Given the description of an element on the screen output the (x, y) to click on. 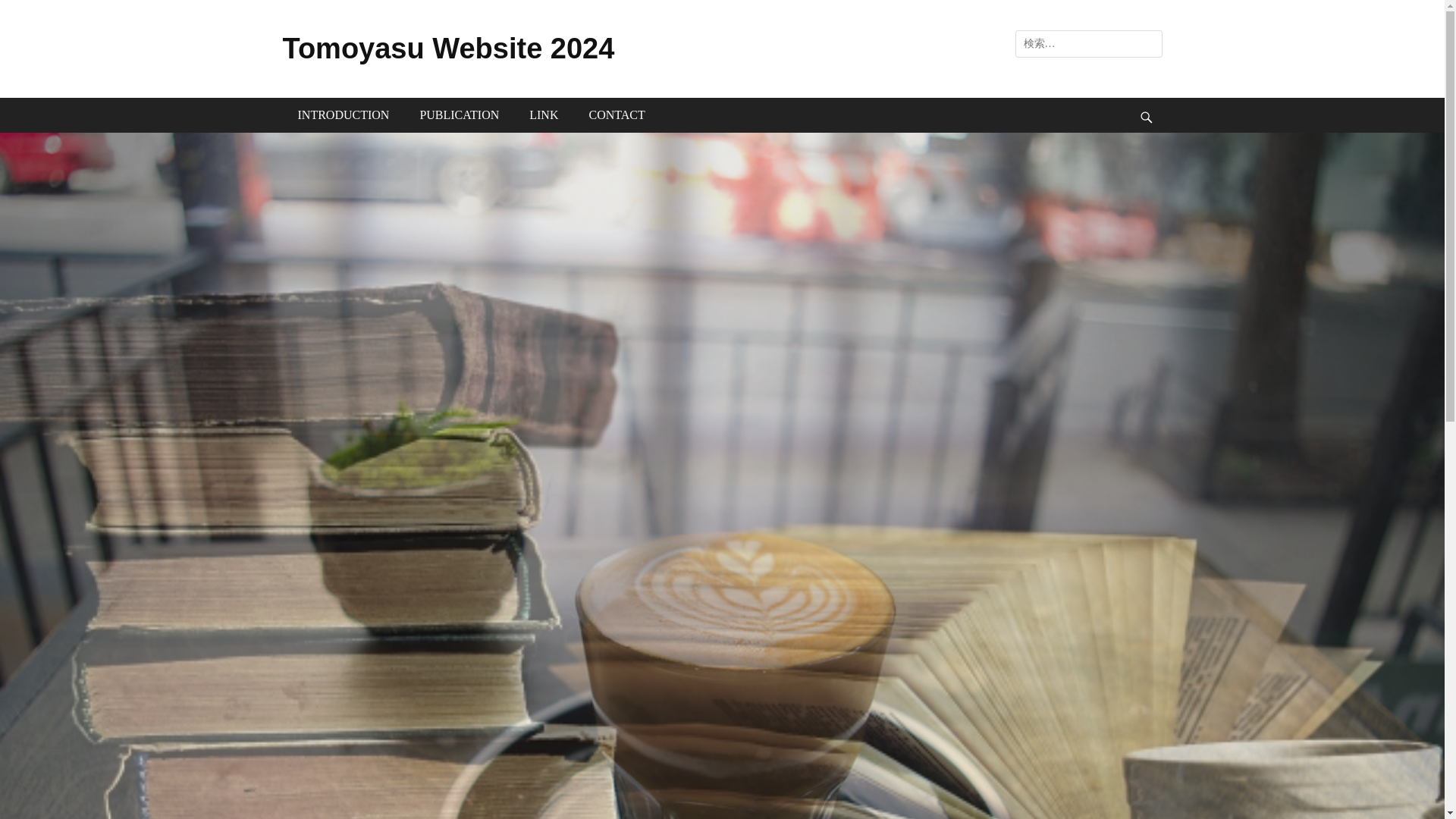
LINK (543, 114)
PUBLICATION (458, 114)
Tomoyasu Website 2024 (448, 48)
CONTACT (616, 114)
INTRODUCTION (343, 114)
